Given the description of an element on the screen output the (x, y) to click on. 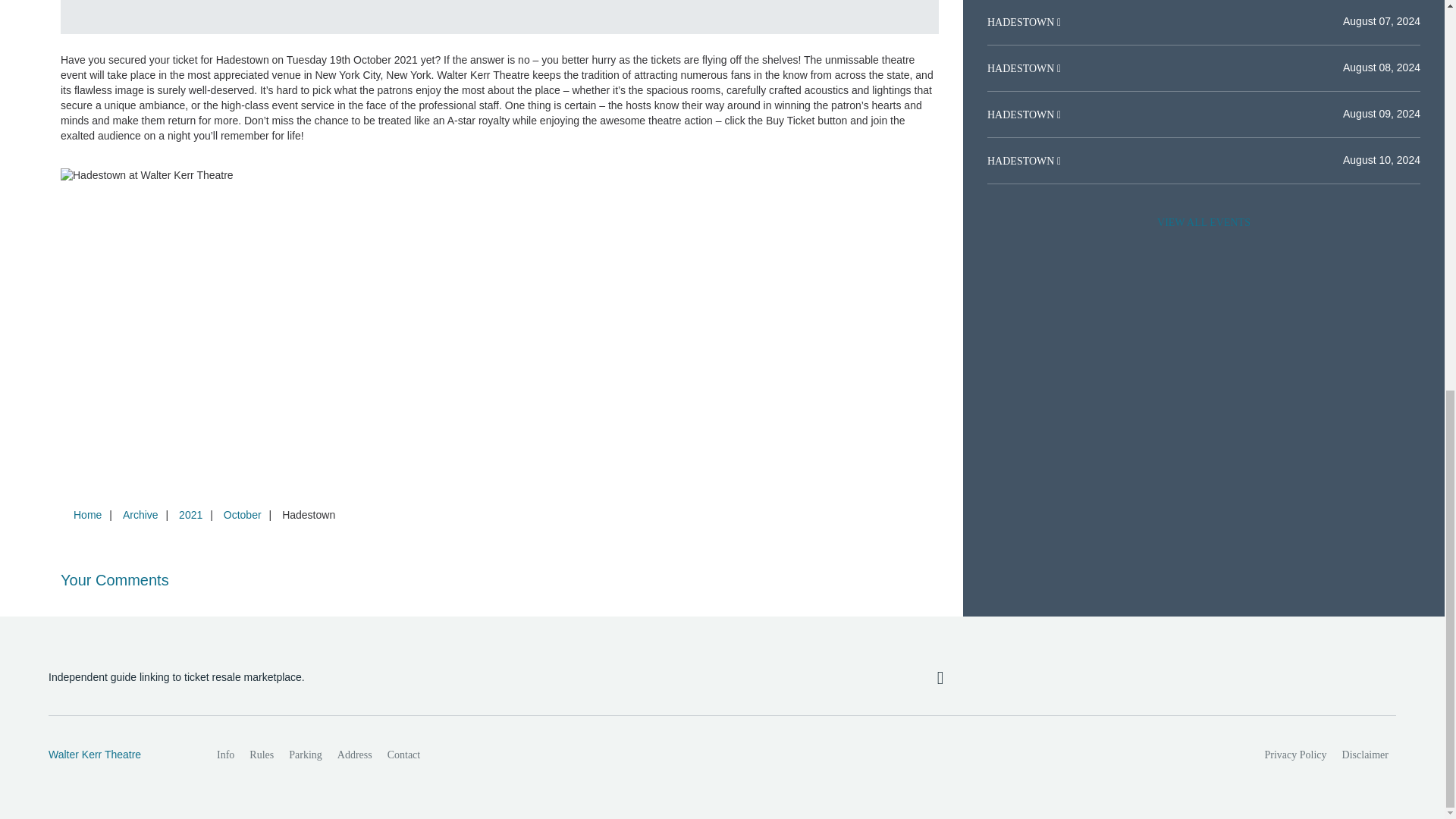
Archive (140, 514)
Walter Kerr Theatre (116, 754)
Address (355, 755)
VIEW ALL EVENTS (1203, 222)
October (242, 514)
2021 (190, 514)
Disclaimer (1365, 755)
Contact (404, 755)
Hadestown at Walter Kerr Theatre (767, 17)
Rules (261, 755)
Home (87, 514)
Parking (305, 755)
Info (225, 755)
Hadestown at Walter Kerr Theatre tickets (500, 175)
Privacy Policy (1296, 755)
